Given the description of an element on the screen output the (x, y) to click on. 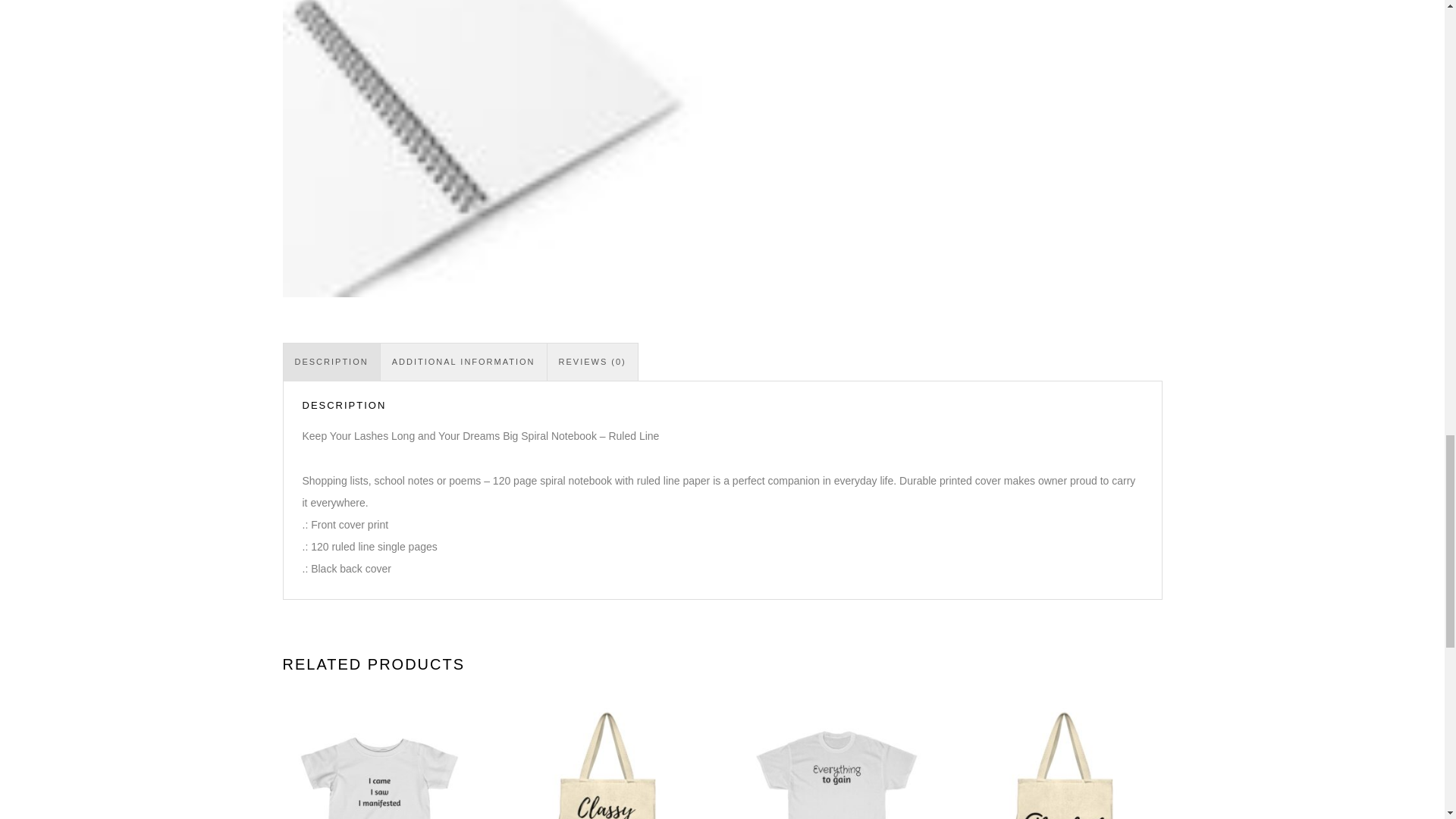
34240-3.jpg (493, 148)
